Given the description of an element on the screen output the (x, y) to click on. 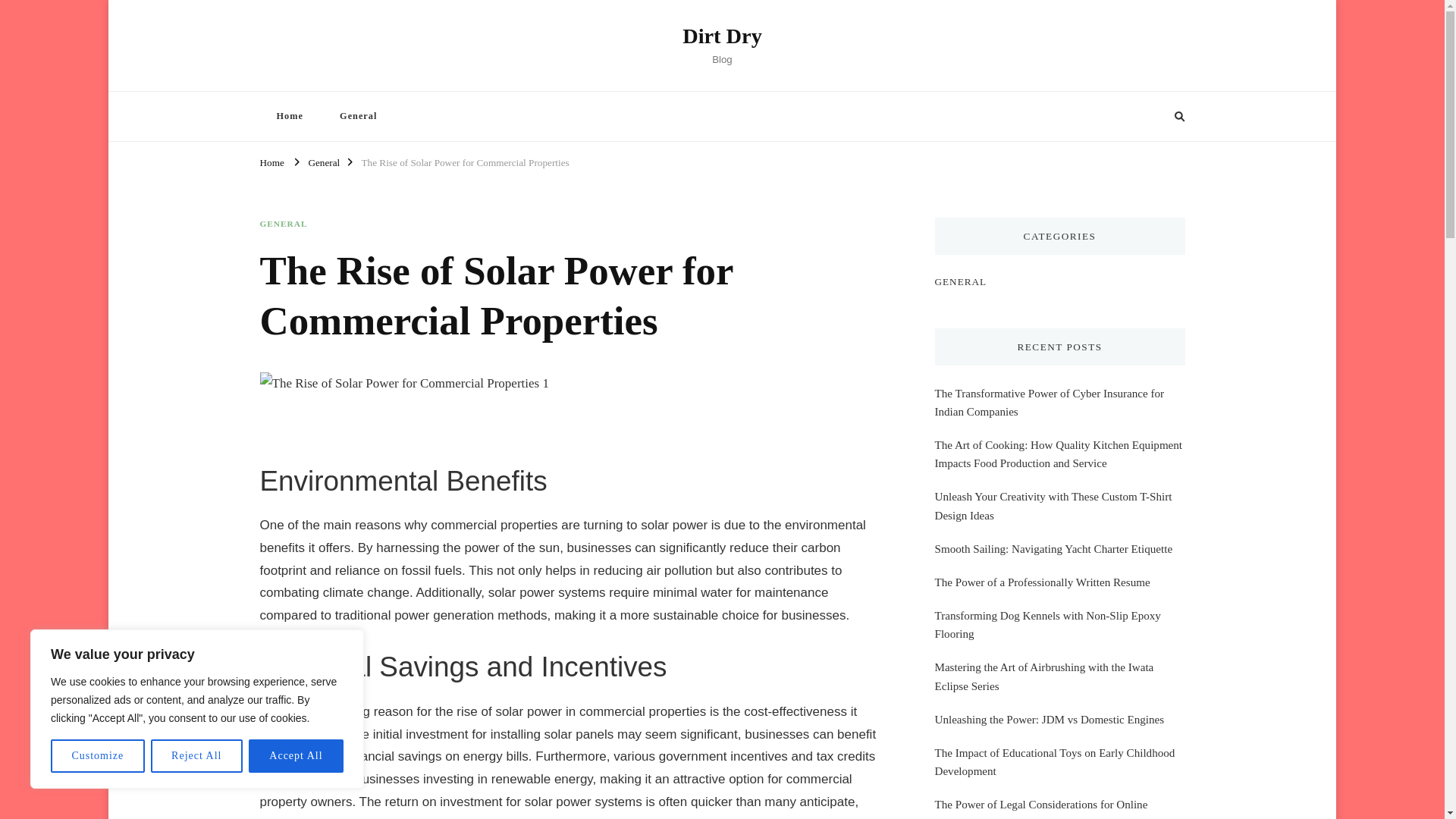
The Rise of Solar Power for Commercial Properties (465, 161)
General (323, 161)
Reject All (197, 756)
GENERAL (283, 223)
General (358, 115)
Home (271, 161)
Accept All (295, 756)
Home (288, 115)
Customize (97, 756)
Dirt Dry (721, 35)
